Given the description of an element on the screen output the (x, y) to click on. 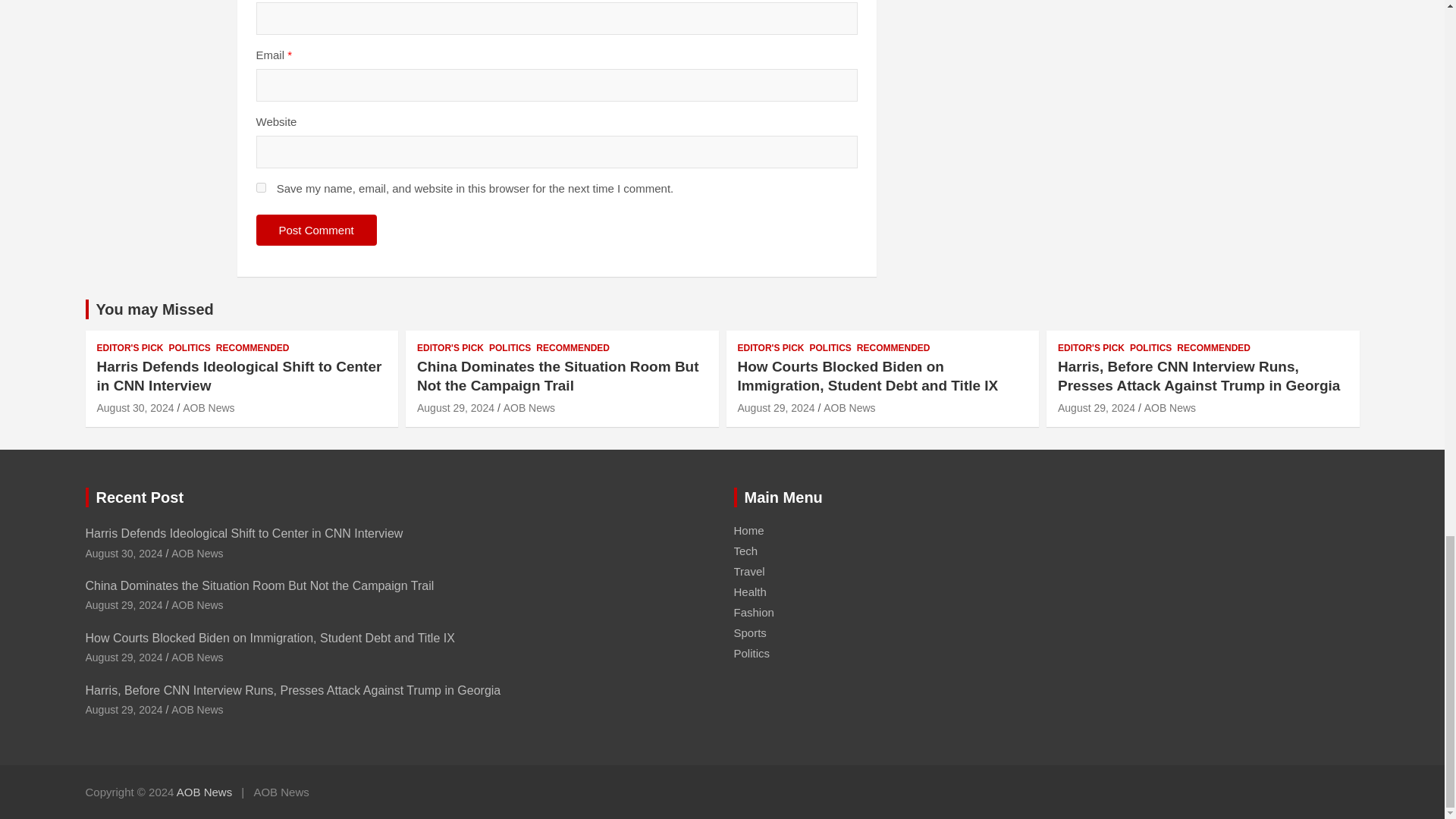
yes (261, 187)
Harris Defends Ideological Shift to Center in CNN Interview (135, 408)
Post Comment (316, 229)
Post Comment (316, 229)
